Given the description of an element on the screen output the (x, y) to click on. 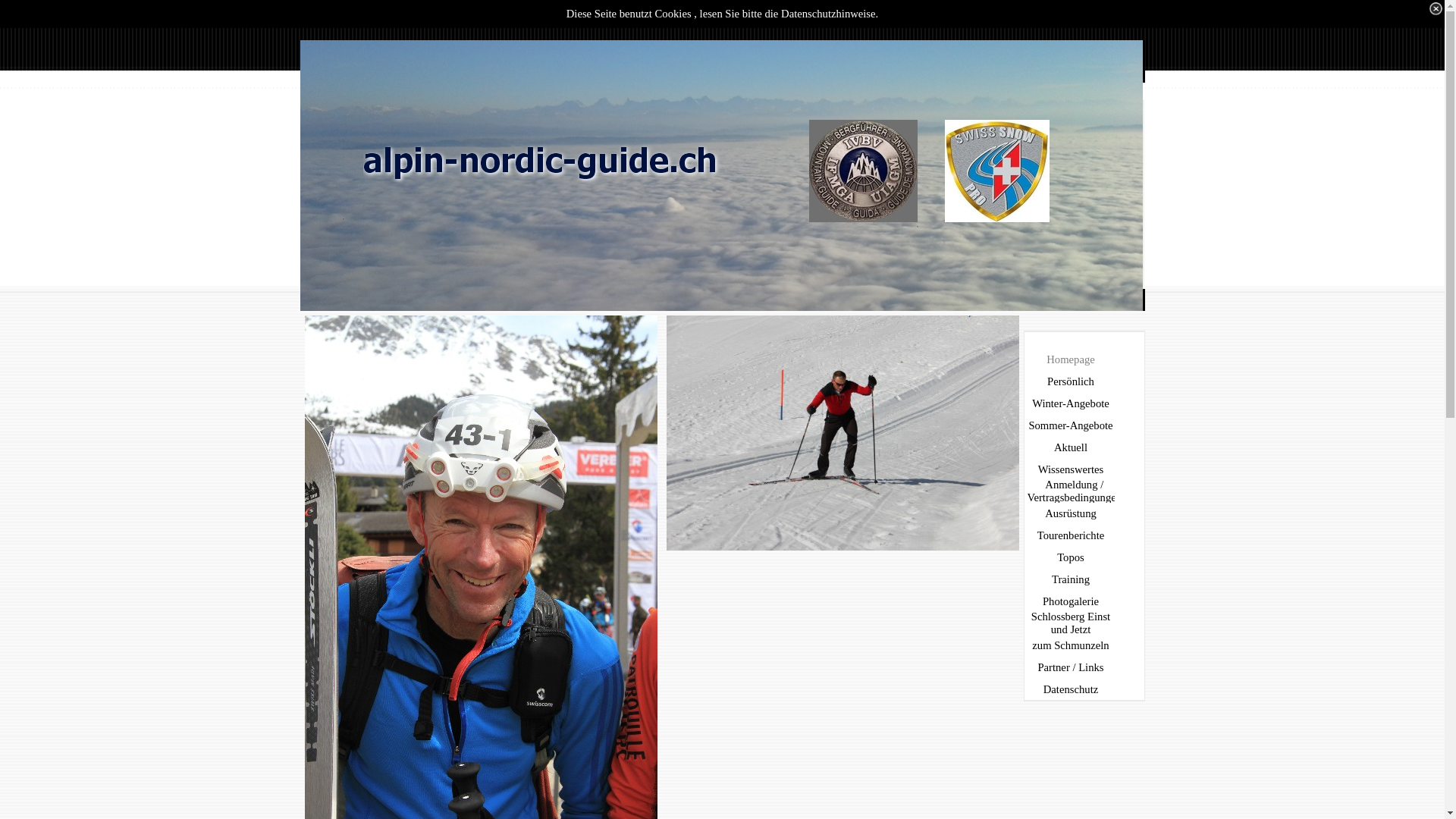
Training Element type: text (1071, 579)
Topos Element type: text (1071, 557)
Datenschutz Element type: text (1071, 689)
Aktuell Element type: text (1071, 447)
Winter-Angebote Element type: text (1071, 403)
zum Schmunzeln Element type: text (1071, 645)
Sommer-Angebote Element type: text (1071, 425)
Schlossberg Einst und Jetzt Element type: text (1071, 623)
Photogalerie Element type: text (1071, 601)
Homepage Element type: text (1071, 359)
Wissenswertes Element type: text (1071, 469)
Tourenberichte Element type: text (1071, 535)
Partner / Links Element type: text (1071, 667)
Anmeldung / Vertragsbedingungen Element type: text (1071, 491)
